Given the description of an element on the screen output the (x, y) to click on. 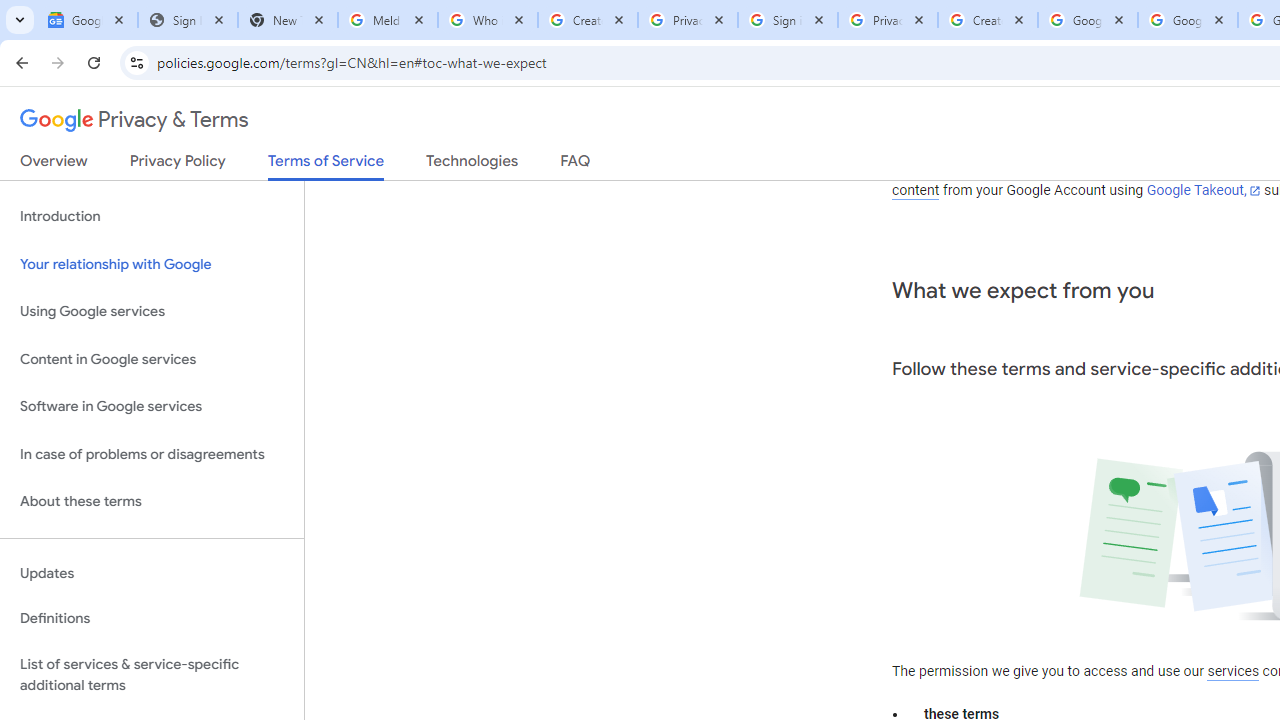
Who is my administrator? - Google Account Help (487, 20)
New Tab (287, 20)
